Given the description of an element on the screen output the (x, y) to click on. 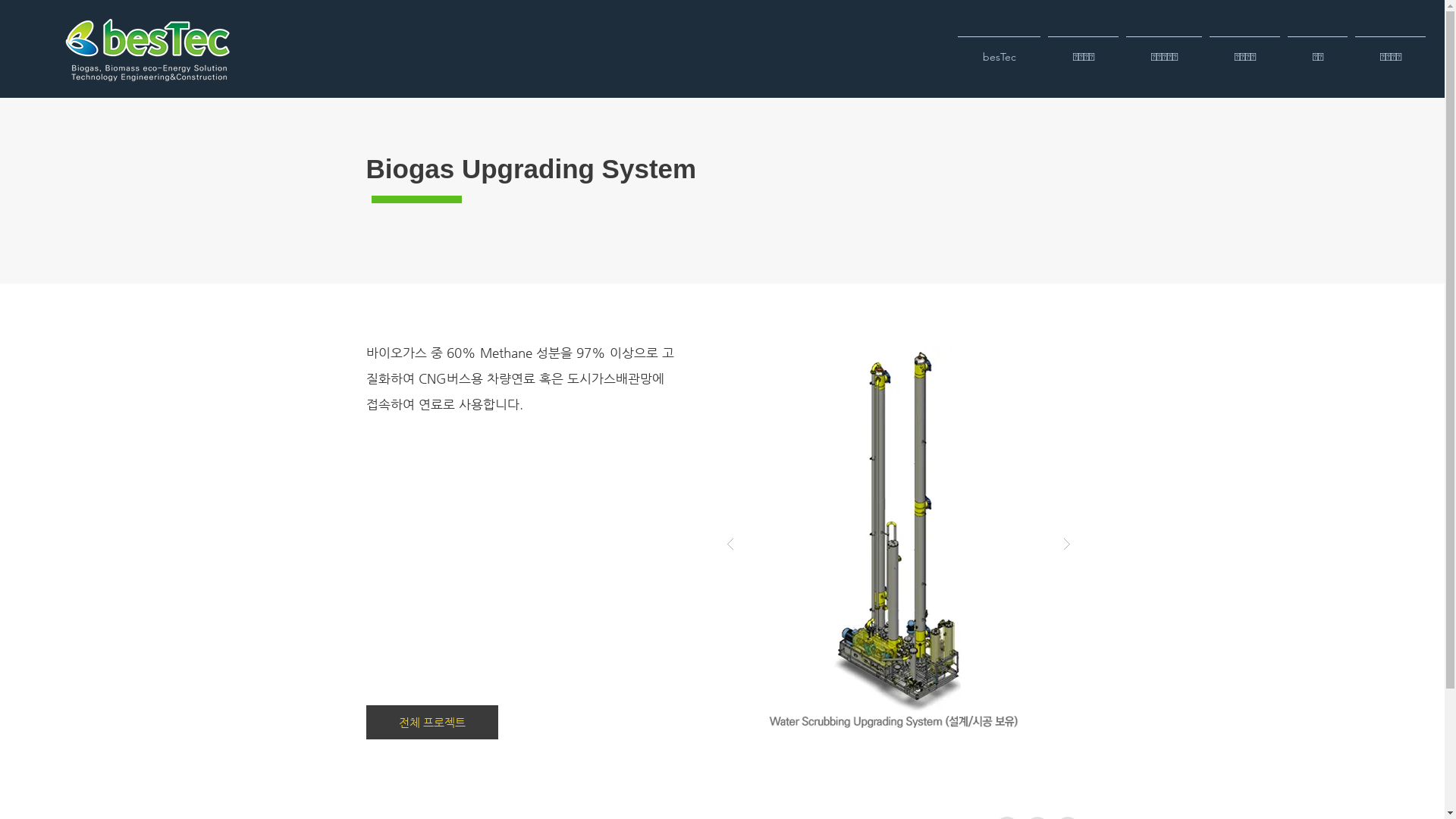
besTec Element type: text (998, 50)
